Given the description of an element on the screen output the (x, y) to click on. 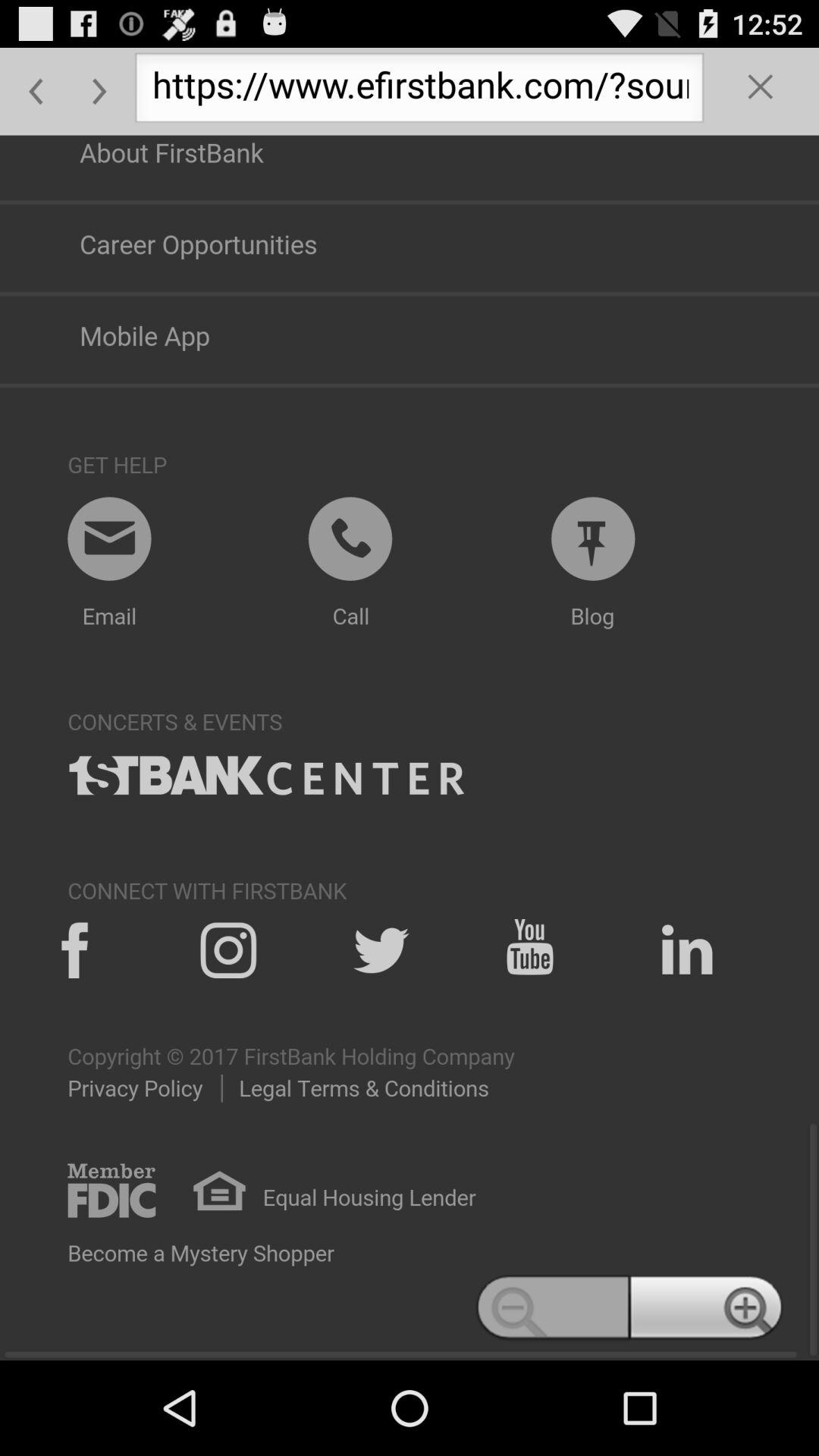
search off to the address bar (761, 91)
